Given the description of an element on the screen output the (x, y) to click on. 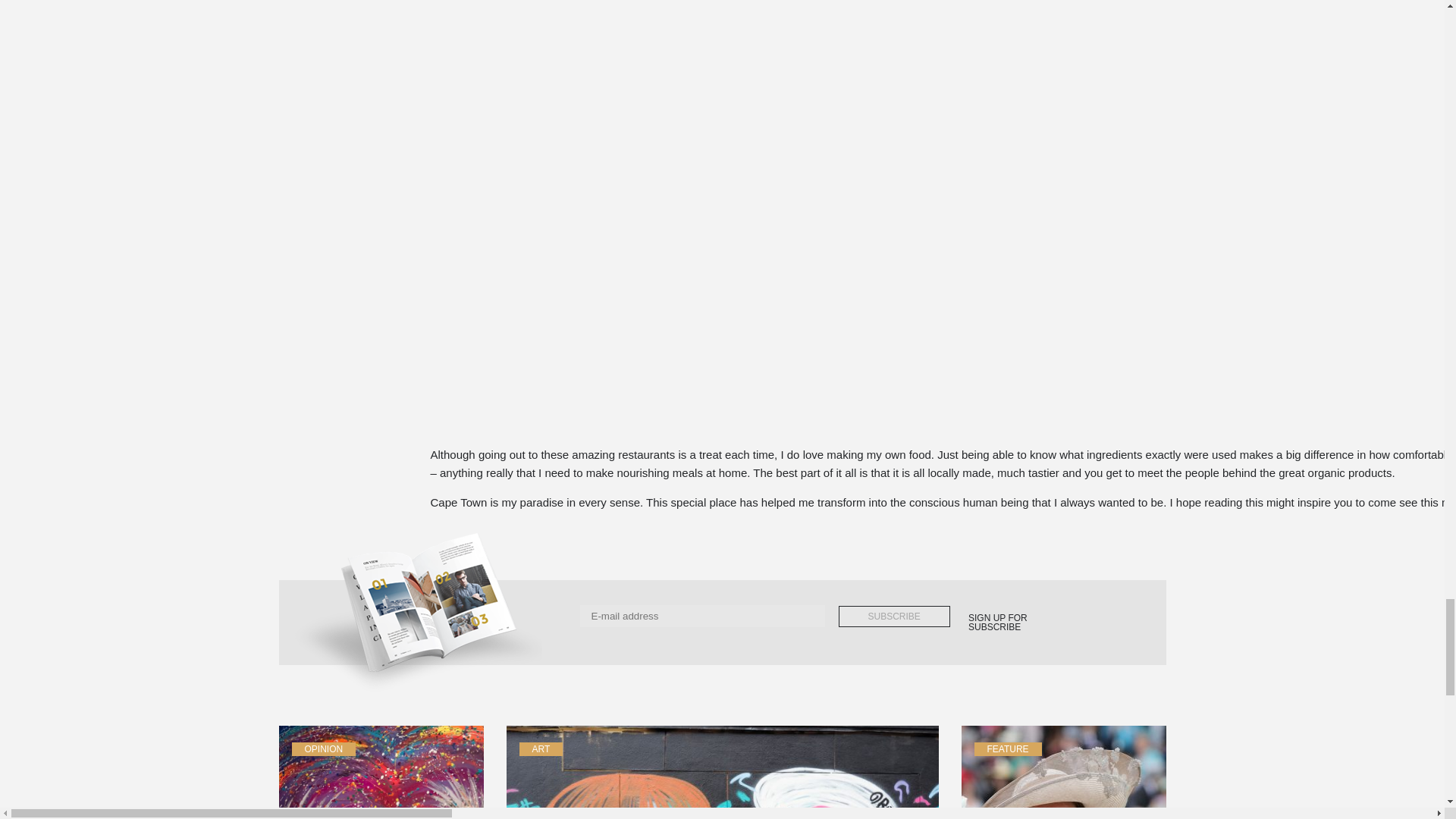
subscribe (894, 616)
